Given the description of an element on the screen output the (x, y) to click on. 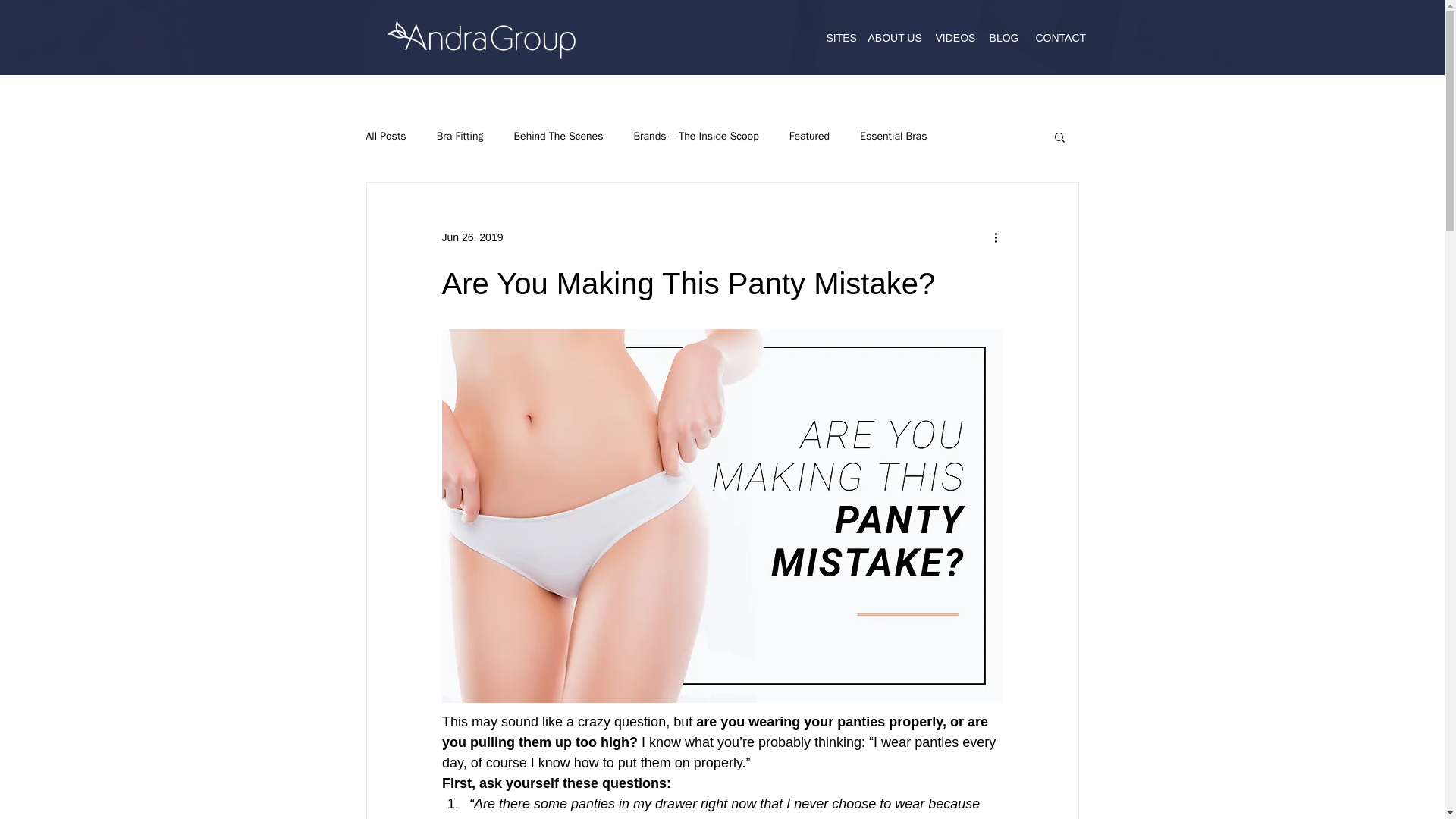
All Posts (385, 136)
Behind The Scenes (557, 136)
ABOUT US (893, 37)
SITES (837, 37)
BLOG (1004, 37)
CONTACT (1059, 37)
Essential Bras (893, 136)
VIDEOS (952, 37)
Brands -- The Inside Scoop (695, 136)
Bra Fitting (459, 136)
